Given the description of an element on the screen output the (x, y) to click on. 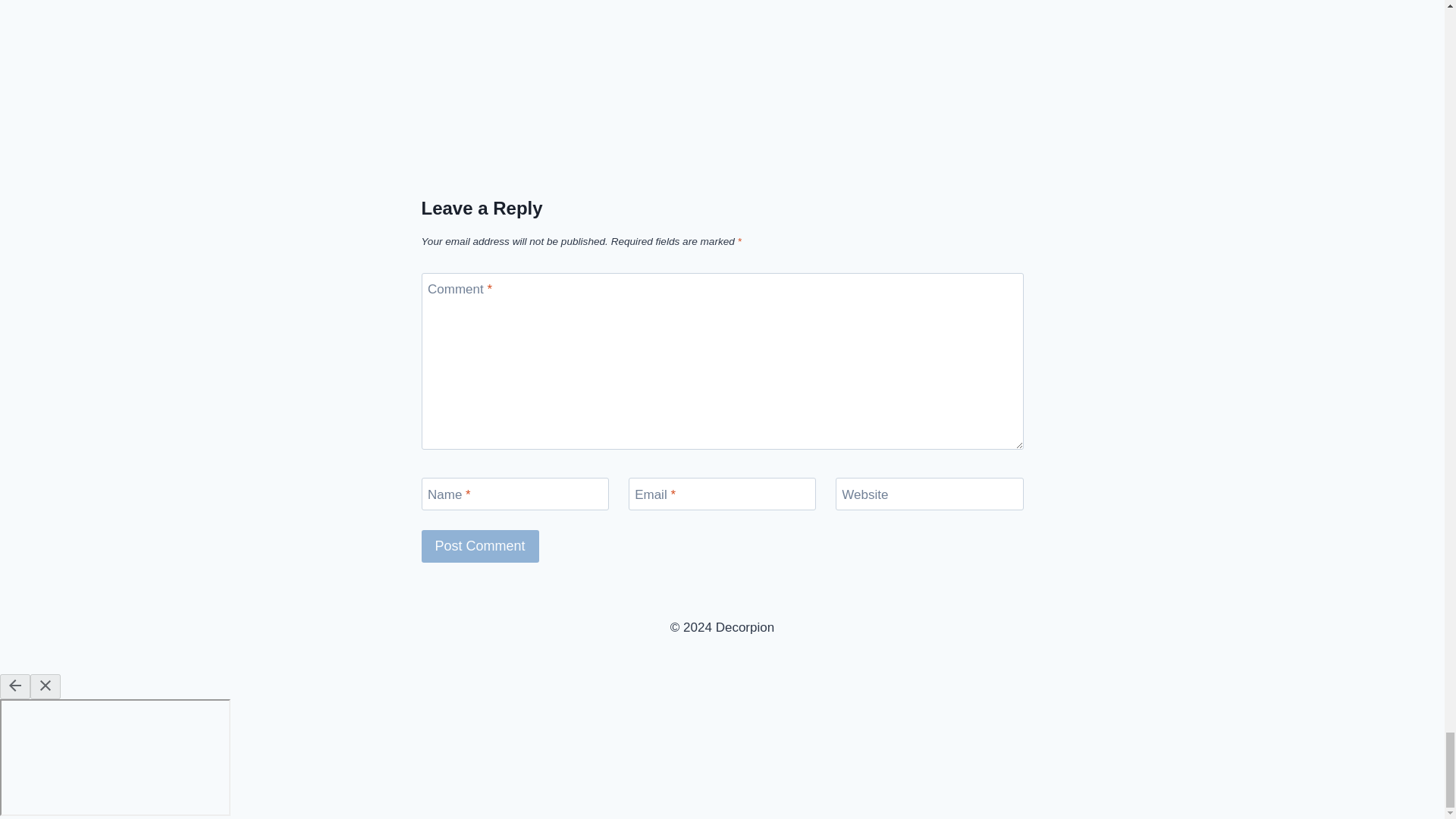
Post Comment (480, 545)
